Given the description of an element on the screen output the (x, y) to click on. 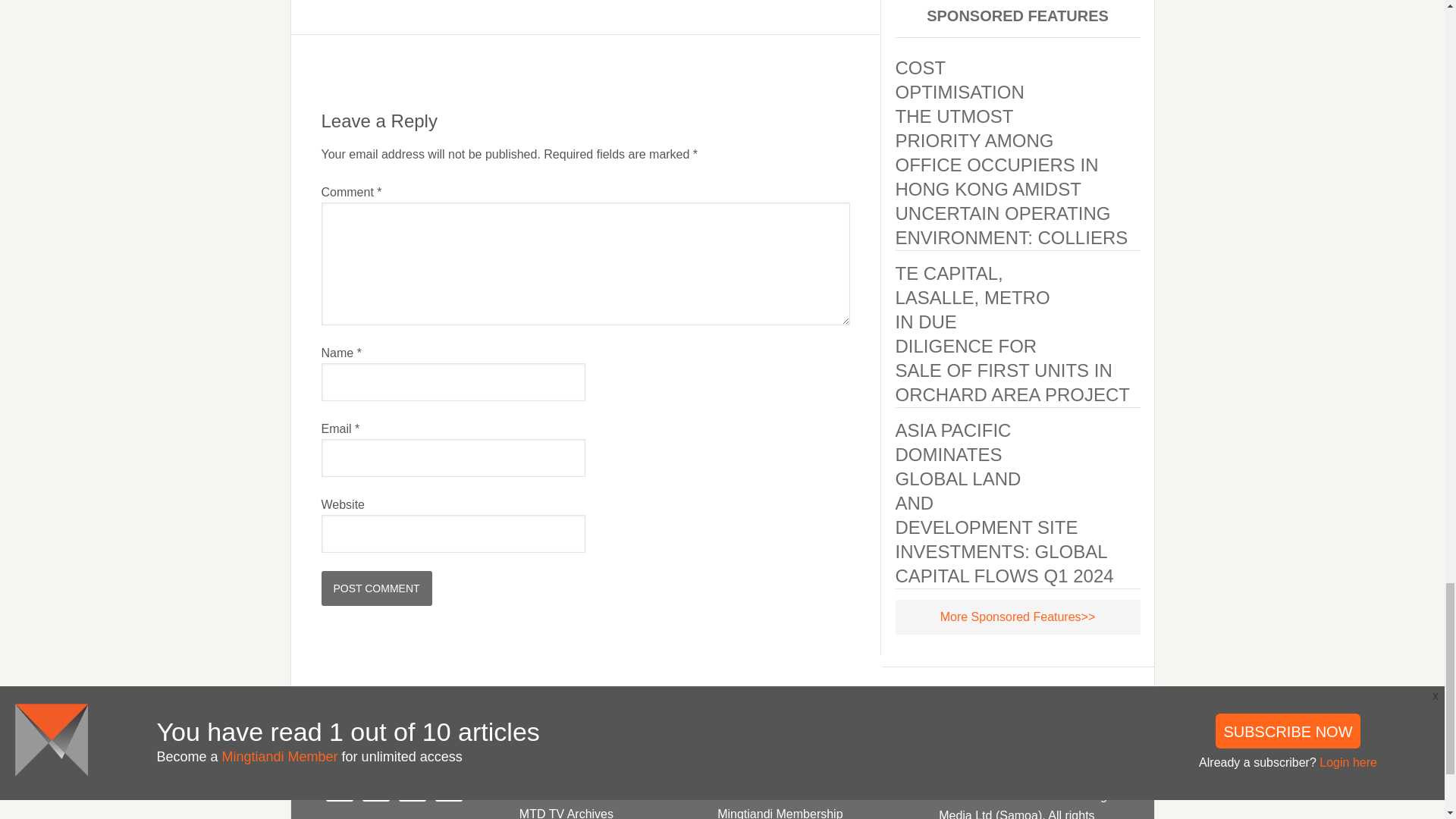
Post Comment (376, 588)
